Given the description of an element on the screen output the (x, y) to click on. 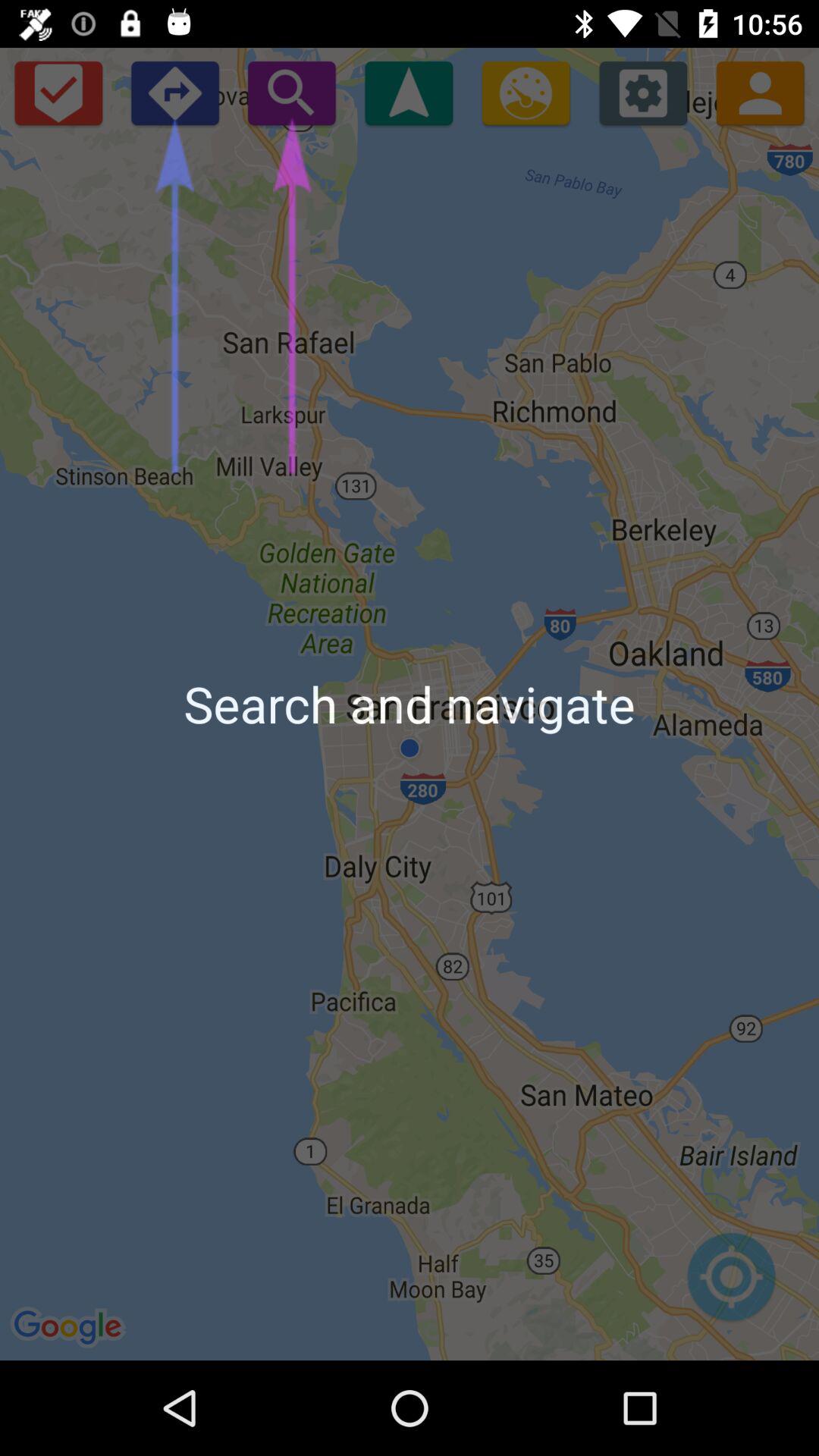
launch icon at the bottom right corner (731, 1284)
